Given the description of an element on the screen output the (x, y) to click on. 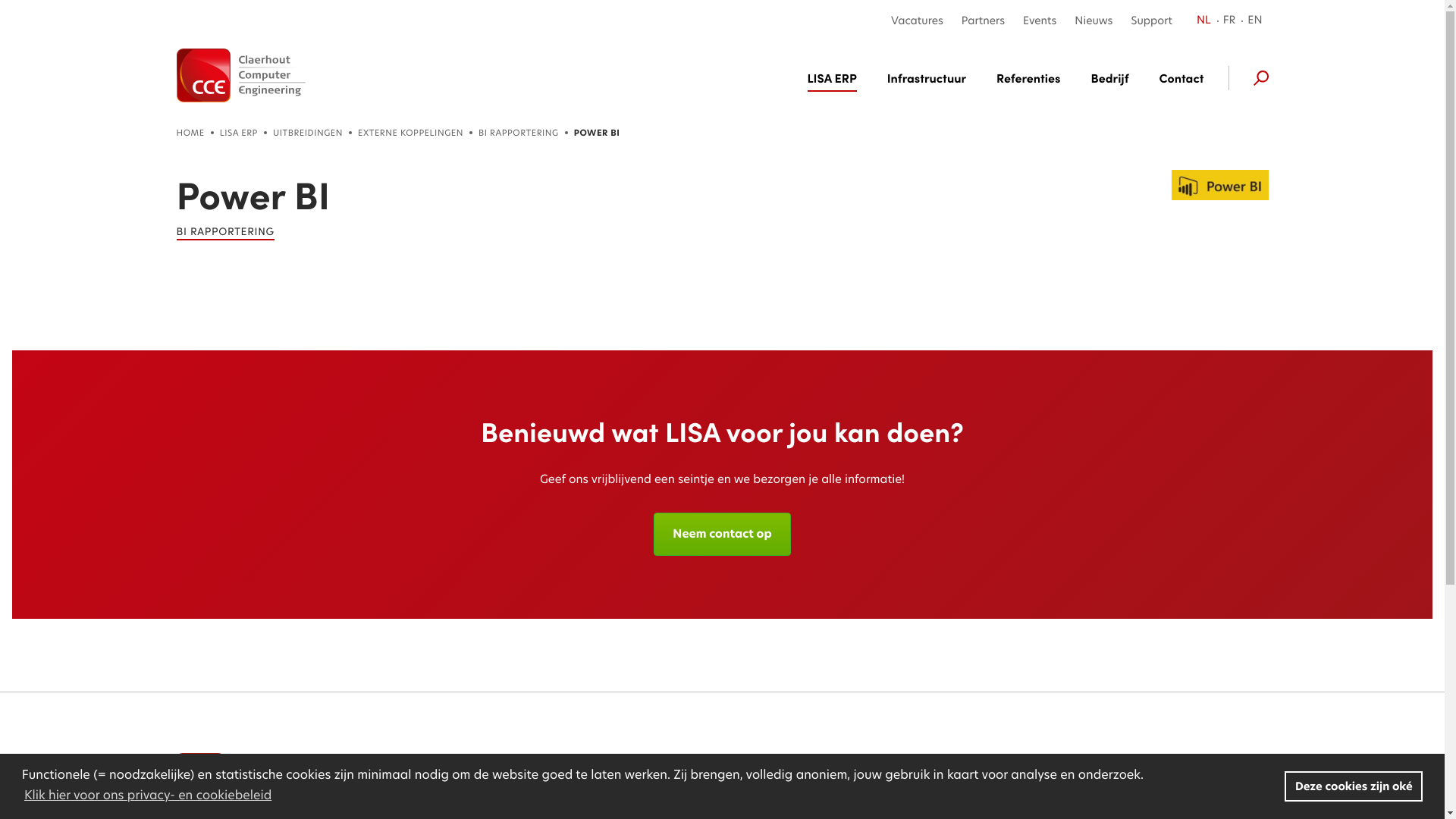
Contact Element type: text (1174, 77)
LISA ERP Element type: text (839, 77)
Nieuws Element type: text (1093, 20)
EN Element type: text (1254, 20)
Contact Element type: text (688, 799)
FR Element type: text (1229, 20)
BI RAPPORTERING Element type: text (224, 231)
EXTERNE KOPPELINGEN Element type: text (410, 132)
Support Element type: text (1147, 20)
HOME Element type: text (189, 132)
Vacatures Element type: text (916, 20)
Infrastructuur Element type: text (926, 77)
Partners Element type: text (982, 20)
Bedrijf Element type: text (1109, 77)
Klik hier voor ons privacy- en cookiebeleid Element type: text (147, 795)
LISA ERP Element type: text (238, 132)
NL Element type: text (1206, 20)
Events Element type: text (1039, 20)
UITBREIDINGEN Element type: text (307, 132)
Neem contact op Element type: text (721, 533)
Referenties Element type: text (1028, 77)
BI RAPPORTERING Element type: text (518, 132)
nl Element type: hover (239, 75)
